Given the description of an element on the screen output the (x, y) to click on. 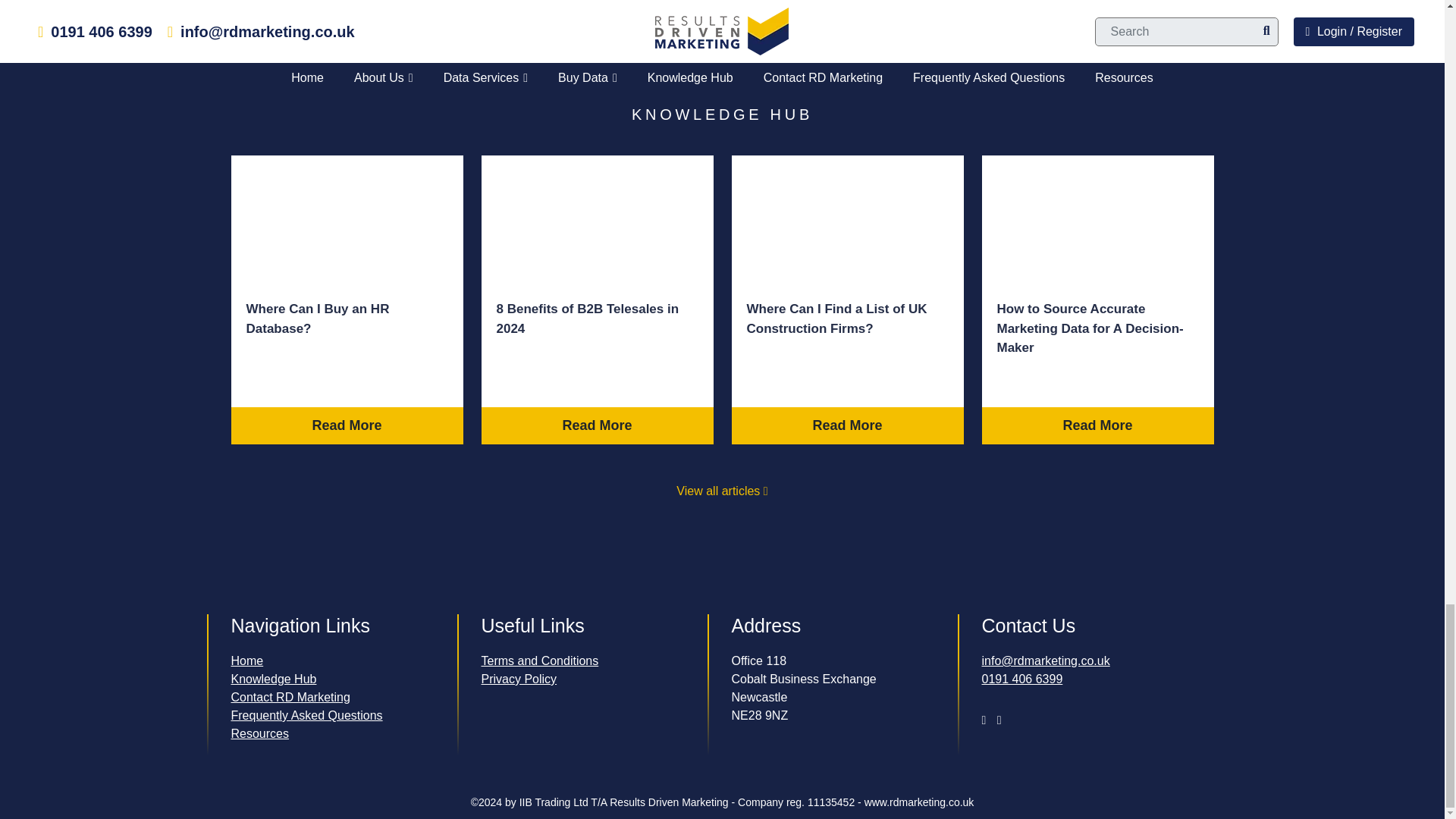
Read More (846, 425)
Read More (596, 425)
Read More (346, 425)
